Given the description of an element on the screen output the (x, y) to click on. 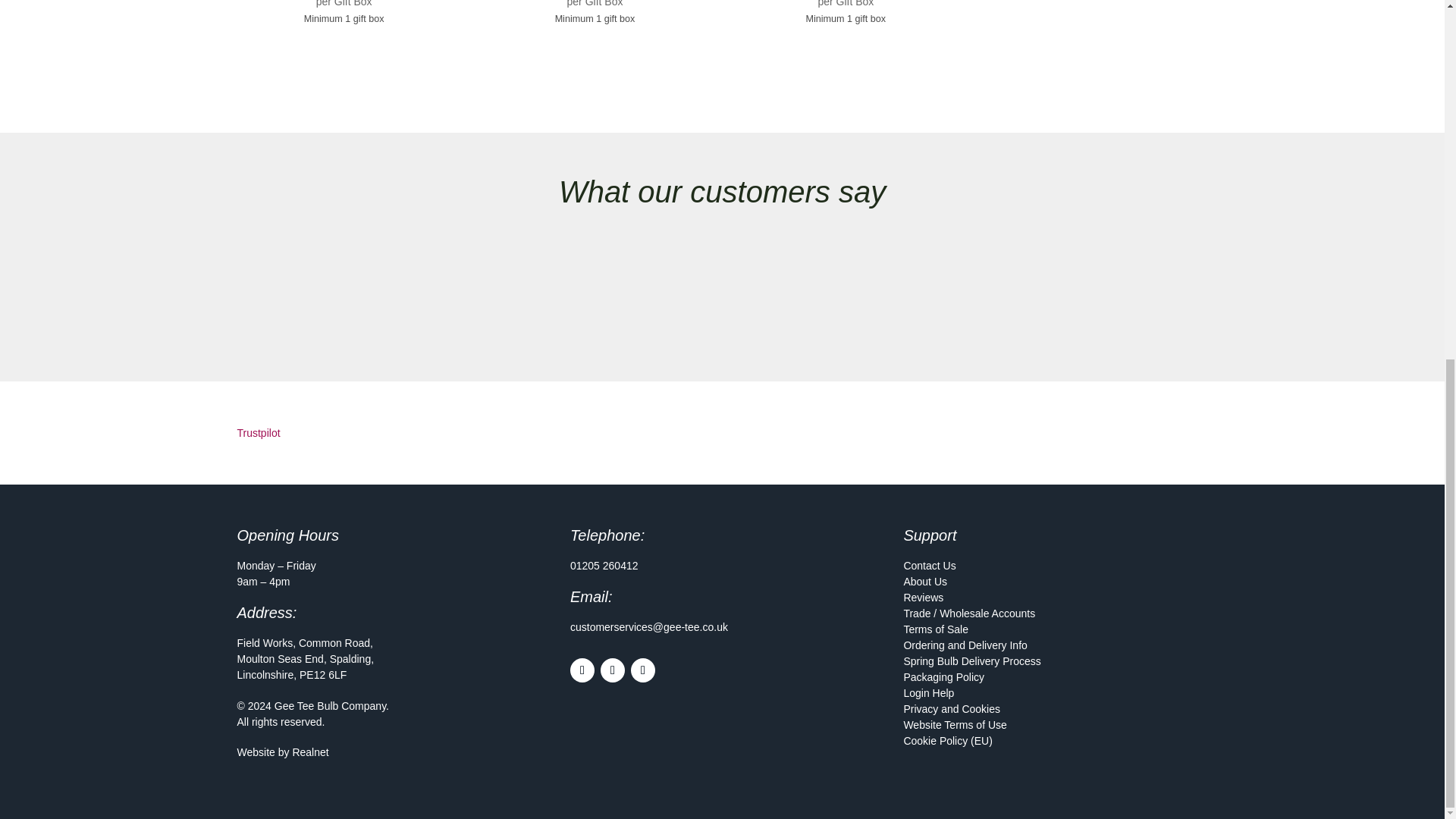
Follow on Facebook (582, 670)
Follow on Instagram (611, 670)
Follow on Youtube (642, 670)
